Given the description of an element on the screen output the (x, y) to click on. 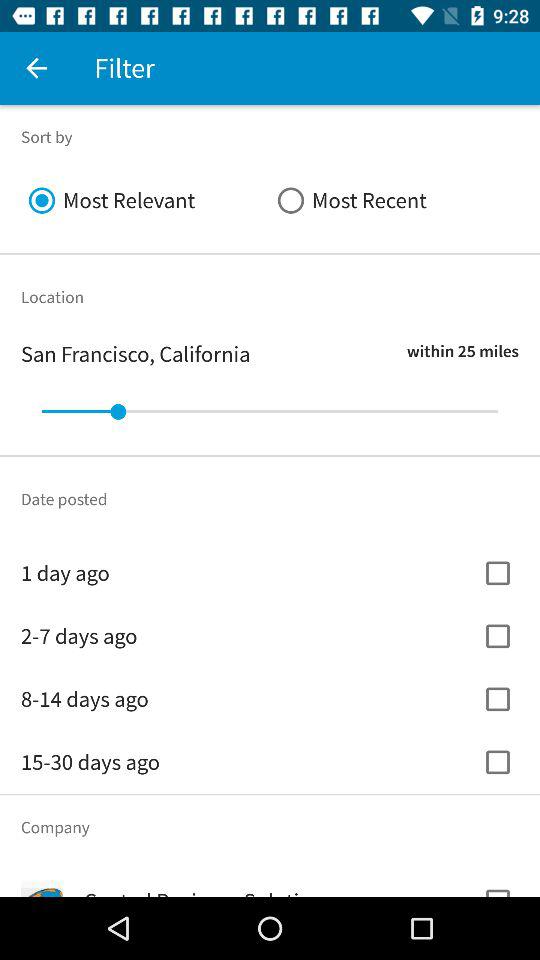
turn off icon at the top right corner (394, 200)
